Given the description of an element on the screen output the (x, y) to click on. 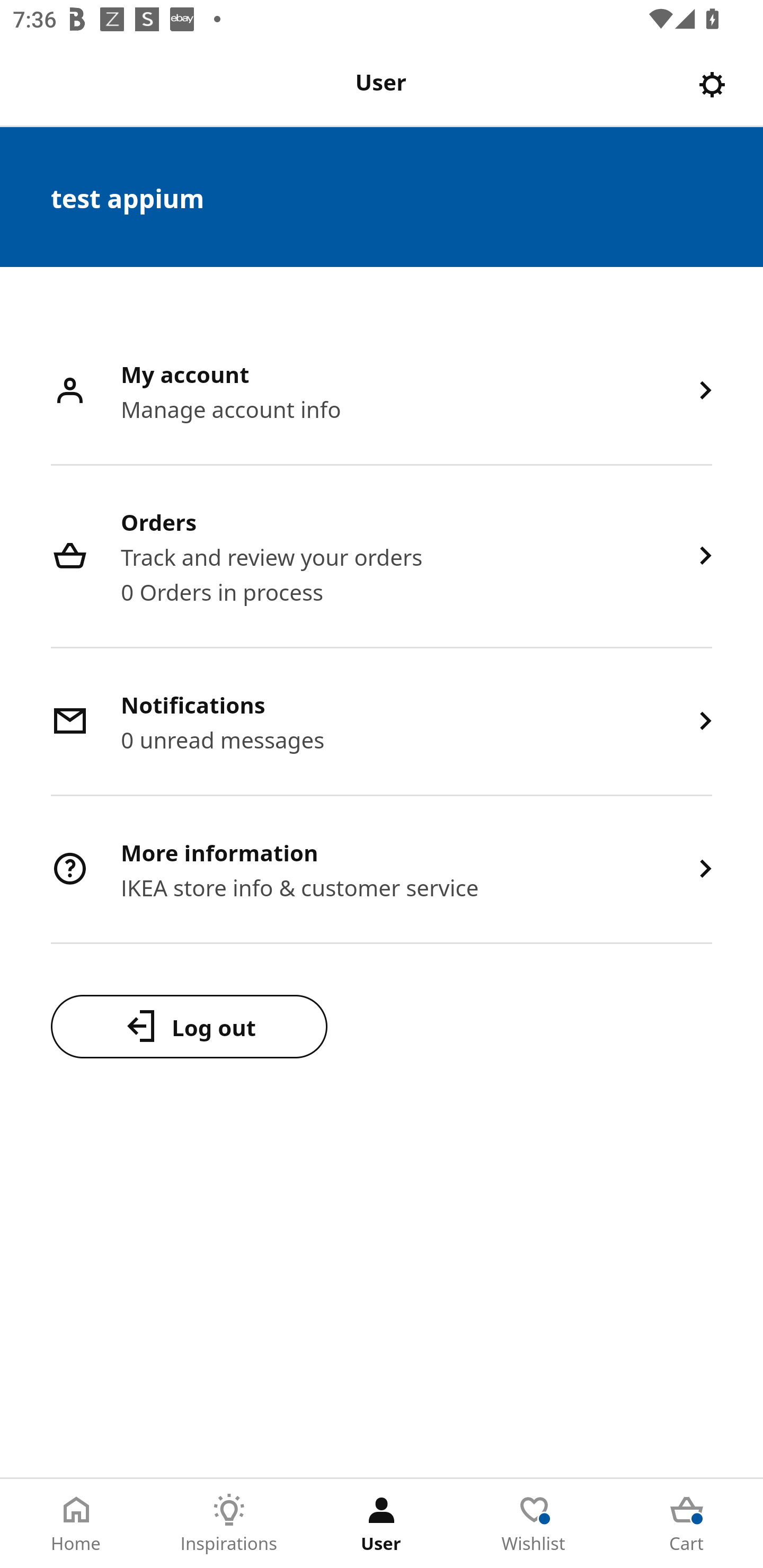
My account
Manage account info (381, 391)
Notifications
0 unread messages (381, 722)
Log out (189, 1026)
Home
Tab 1 of 5 (76, 1522)
Inspirations
Tab 2 of 5 (228, 1522)
User
Tab 3 of 5 (381, 1522)
Wishlist
Tab 4 of 5 (533, 1522)
Cart
Tab 5 of 5 (686, 1522)
